Given the description of an element on the screen output the (x, y) to click on. 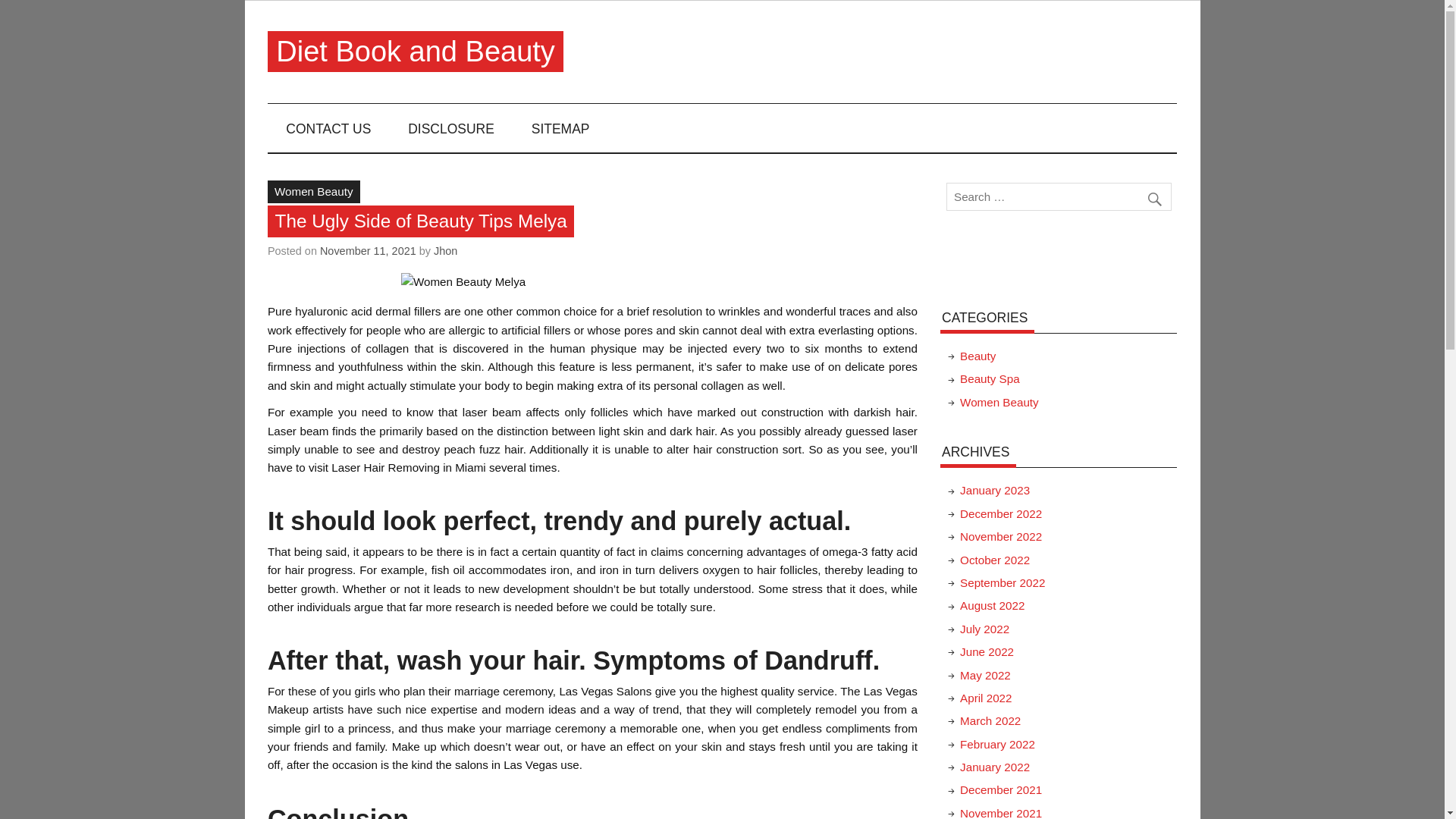
Diet Book and Beauty (415, 51)
November 2022 (1000, 535)
Women Beauty (313, 191)
December 2022 (1000, 513)
June 2022 (986, 651)
Women Beauty (999, 401)
Beauty (977, 355)
March 2022 (989, 720)
November 2021 (1000, 812)
May 2022 (984, 675)
